Given the description of an element on the screen output the (x, y) to click on. 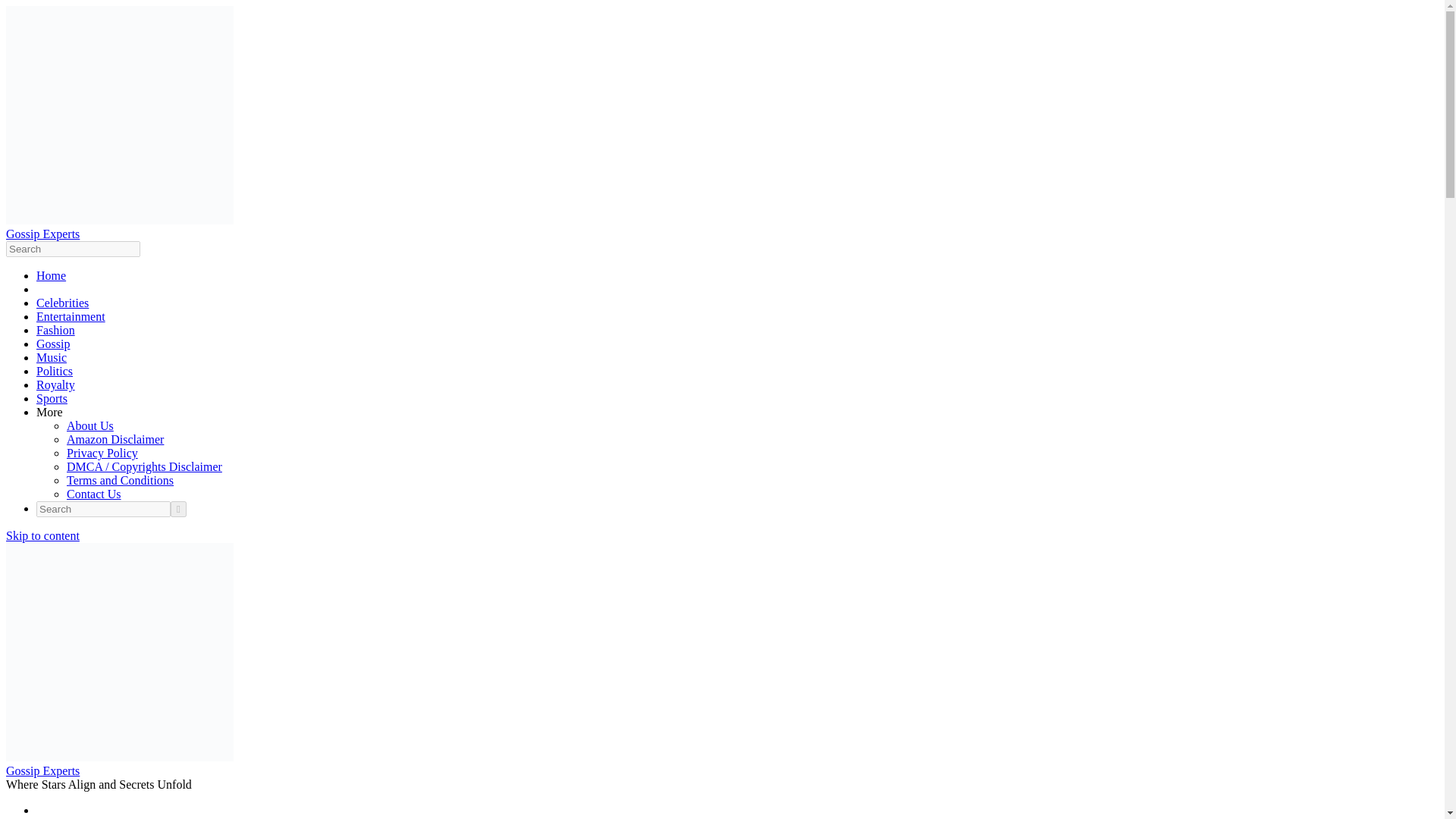
Home (50, 275)
Sports (51, 398)
Fashion (55, 329)
Gossip (52, 343)
Politics (54, 370)
Gossip Experts (42, 770)
Gossip Experts (42, 233)
More (49, 411)
Royalty (55, 384)
Terms and Conditions (119, 480)
